Given the description of an element on the screen output the (x, y) to click on. 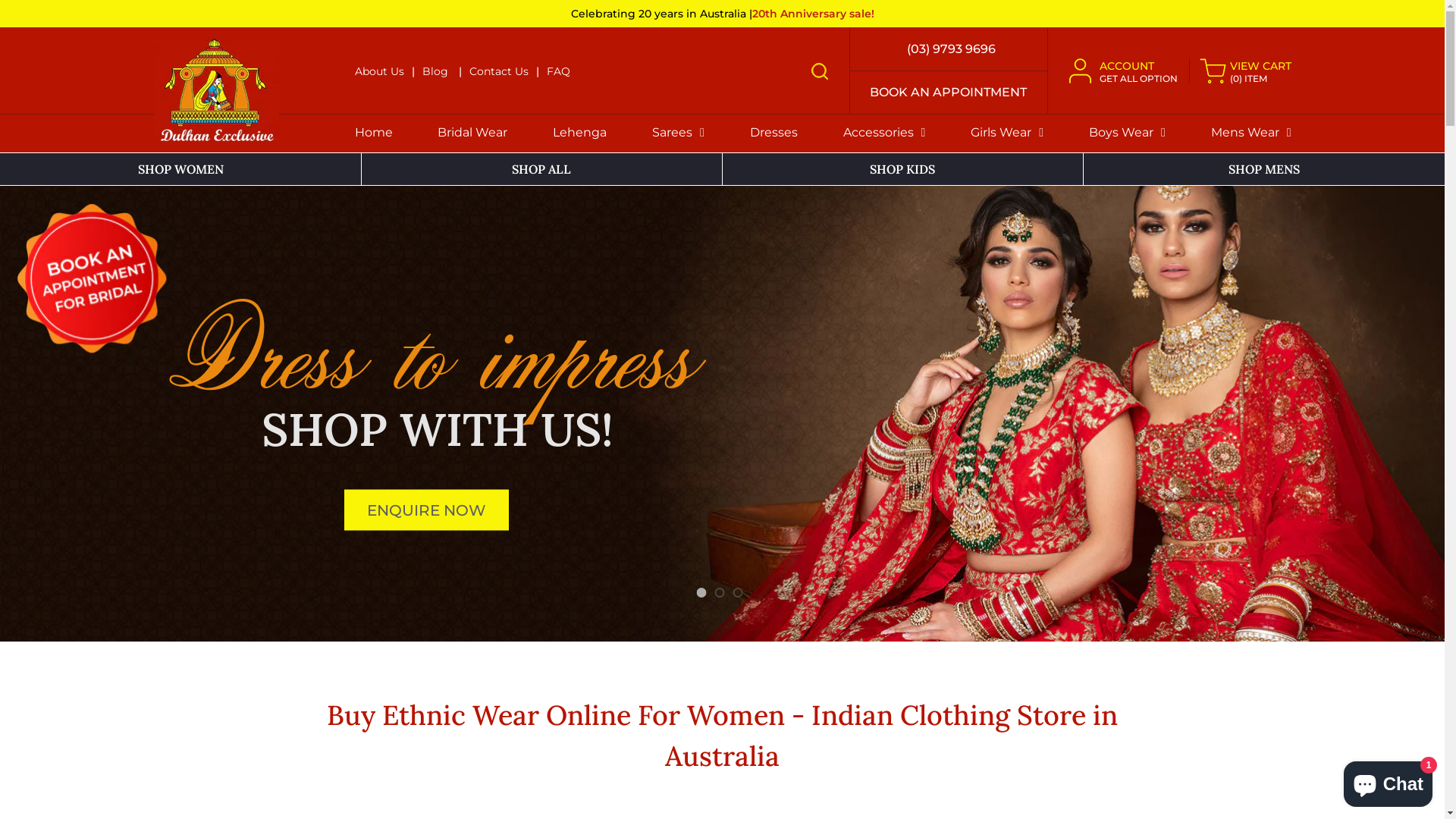
Lehenga Element type: text (579, 132)
Log In Element type: text (722, 431)
SHOP WOMEN Element type: text (180, 169)
Blog Element type: text (434, 70)
Sarees Element type: text (678, 132)
Accessories Element type: text (884, 132)
Mens Wear Element type: text (1251, 132)
Home Element type: text (373, 132)
1 Element type: text (701, 592)
Girls Wear Element type: text (1006, 132)
ENQUIRE NOW Element type: text (426, 509)
Contact Us Element type: text (497, 70)
register Element type: text (722, 700)
SHOP MENS Element type: text (1263, 169)
BOOK AN APPOINTMENT Element type: text (947, 92)
2 Element type: text (719, 592)
FAQ Element type: text (557, 70)
About Us Element type: text (379, 70)
(03) 9793 9696 Element type: text (947, 49)
Bridal Wear Element type: text (472, 132)
Dresses Element type: text (773, 132)
Shopify online store chat Element type: hover (1388, 780)
ACCOUNT
GET ALL OPTION Element type: text (1129, 70)
SHOP ALL Element type: text (541, 169)
20th Anniversary sale! Element type: text (813, 13)
3 Element type: text (737, 592)
Boys Wear Element type: text (1126, 132)
SHOP KIDS Element type: text (902, 169)
VIEW CART
(0) ITEM Element type: text (1245, 70)
